Given the description of an element on the screen output the (x, y) to click on. 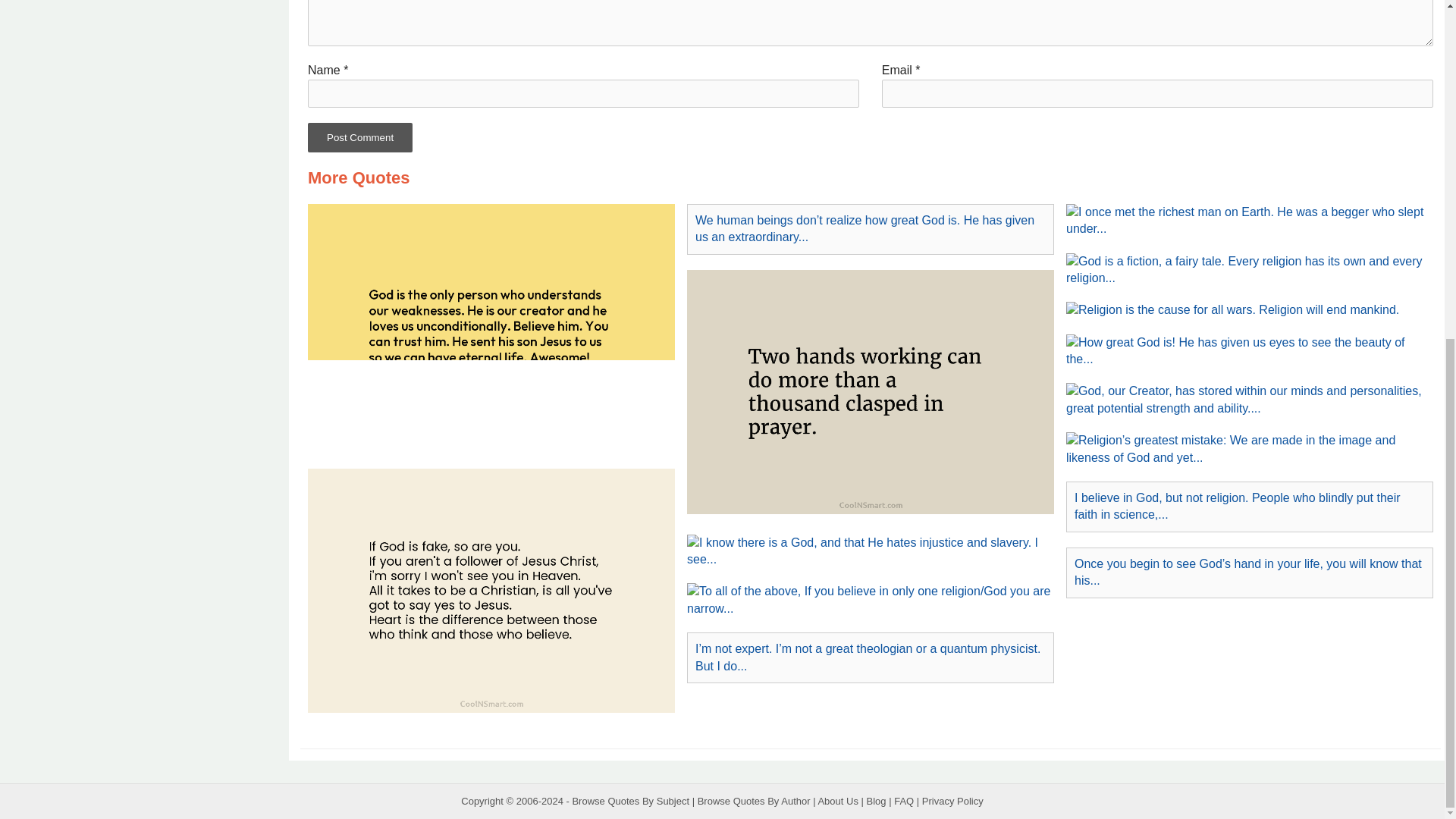
Blog (876, 800)
Browse Quotes By Subject (630, 800)
About Us (836, 800)
Privacy Policy (952, 800)
Browse Quotes By Author (753, 800)
Post Comment (359, 137)
FAQ (903, 800)
Post Comment (359, 137)
